Given the description of an element on the screen output the (x, y) to click on. 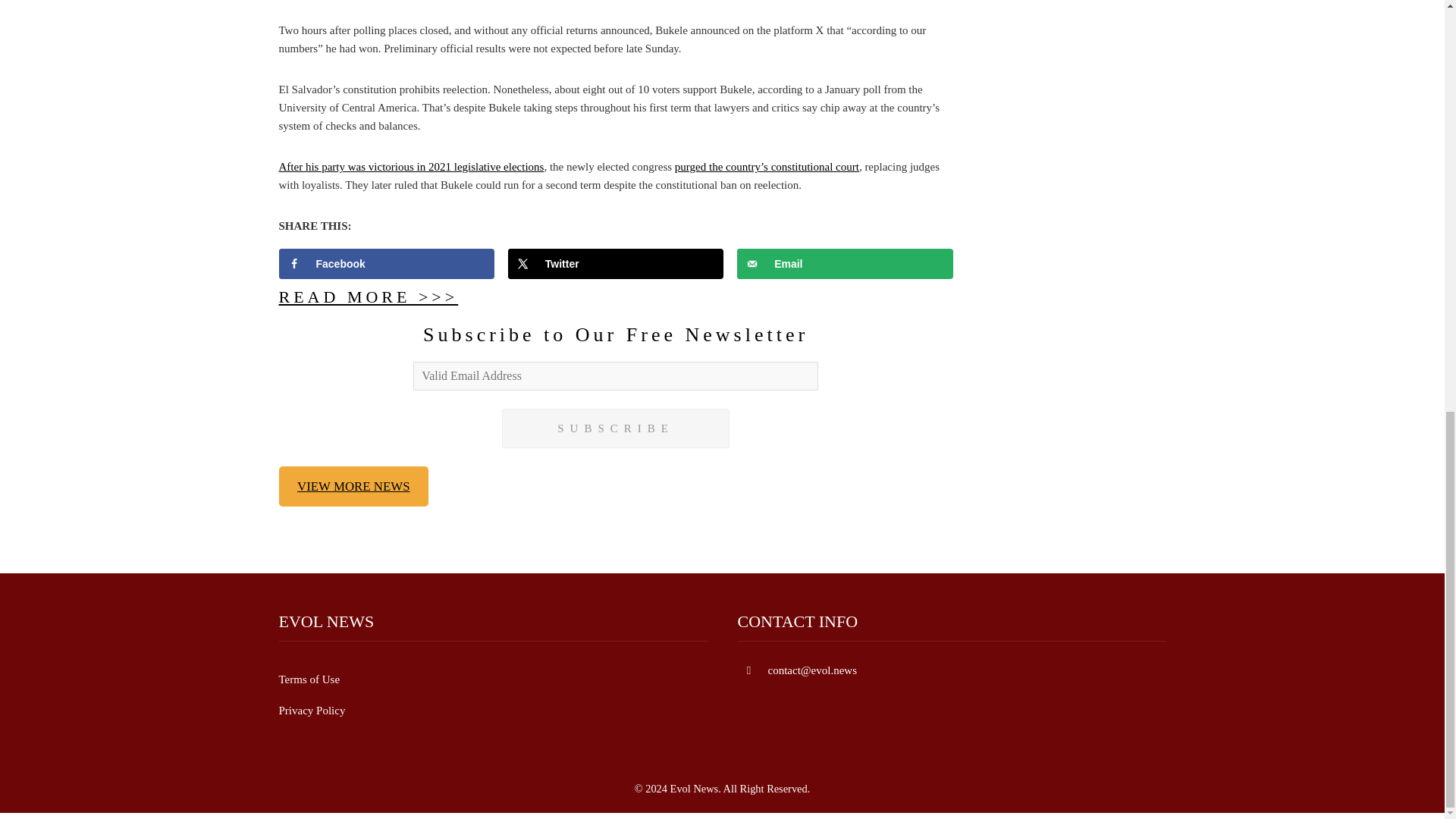
Send over email (844, 263)
Privacy Policy (312, 710)
Share on Facebook (387, 263)
After his party was victorious in 2021 legislative elections (411, 166)
Share on X (615, 263)
Facebook (387, 263)
Terms of Use (309, 679)
VIEW MORE NEWS (354, 486)
Twitter (615, 263)
SUBSCRIBE (615, 427)
Email (844, 263)
